Given the description of an element on the screen output the (x, y) to click on. 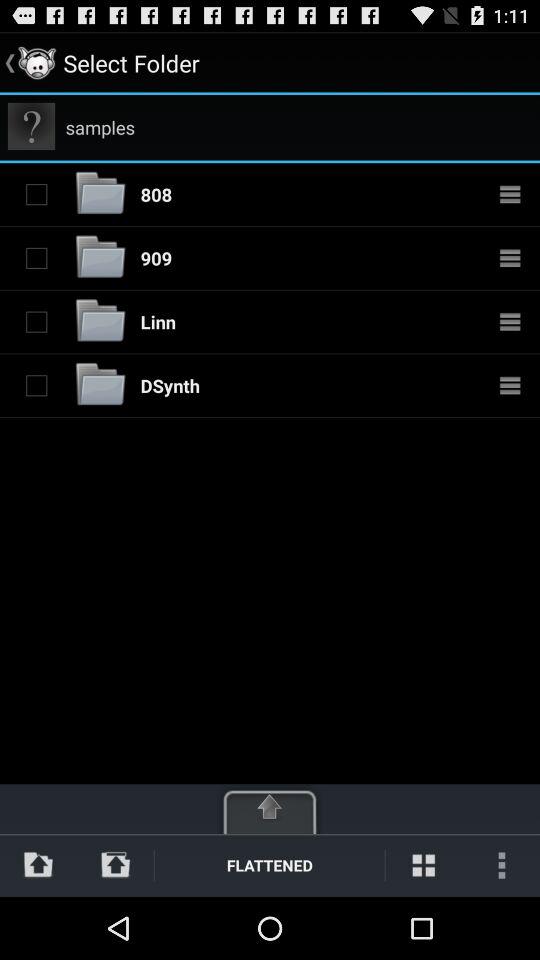
turn on the item next to flattened (115, 864)
